Given the description of an element on the screen output the (x, y) to click on. 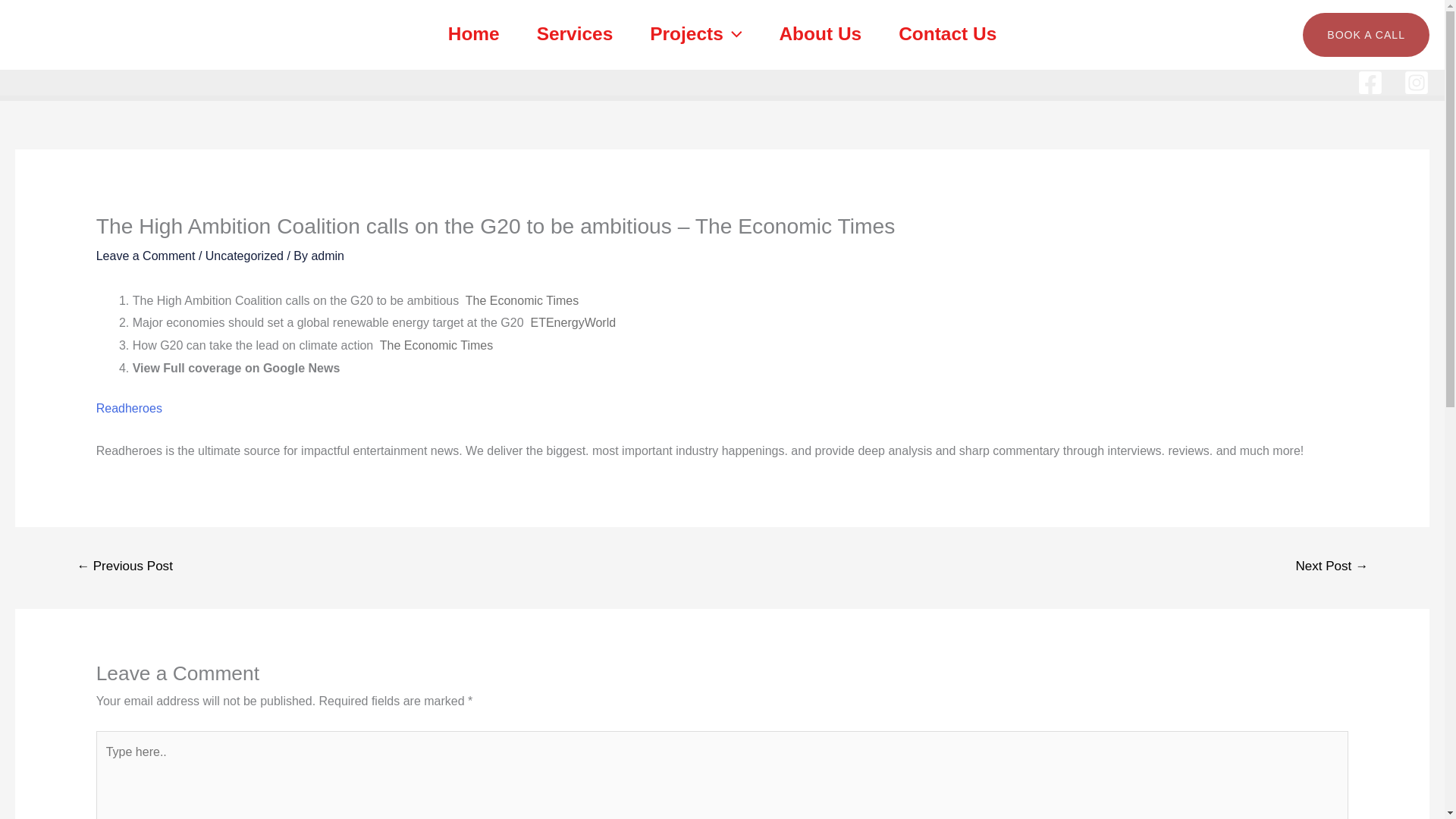
Home (473, 33)
Leave a Comment (145, 255)
Readheroes (128, 408)
Uncategorized (244, 255)
View all posts by admin (327, 255)
admin (327, 255)
BOOK A CALL (1366, 34)
Services (574, 33)
About Us (820, 33)
Projects (695, 33)
